Given the description of an element on the screen output the (x, y) to click on. 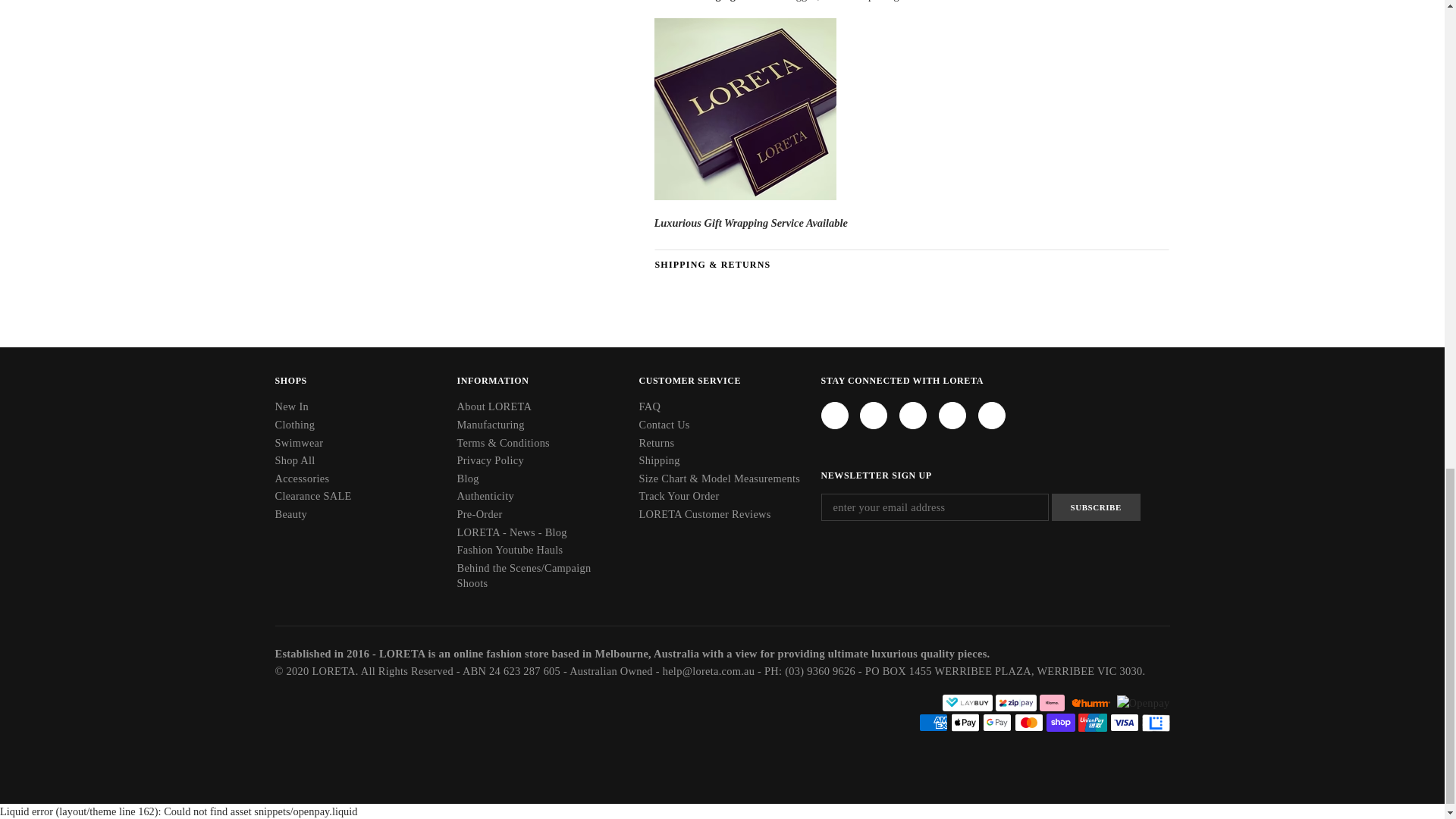
Pinterest (912, 415)
Snapchat (952, 415)
Google Pay (996, 722)
YouTube (992, 415)
American Express (932, 722)
Mastercard (1028, 722)
Union Pay (1092, 722)
Apple Pay (964, 722)
Shop Pay (1060, 722)
Visa (1123, 722)
Subscribe (1095, 506)
Facebook (834, 415)
Instagram (873, 415)
